Given the description of an element on the screen output the (x, y) to click on. 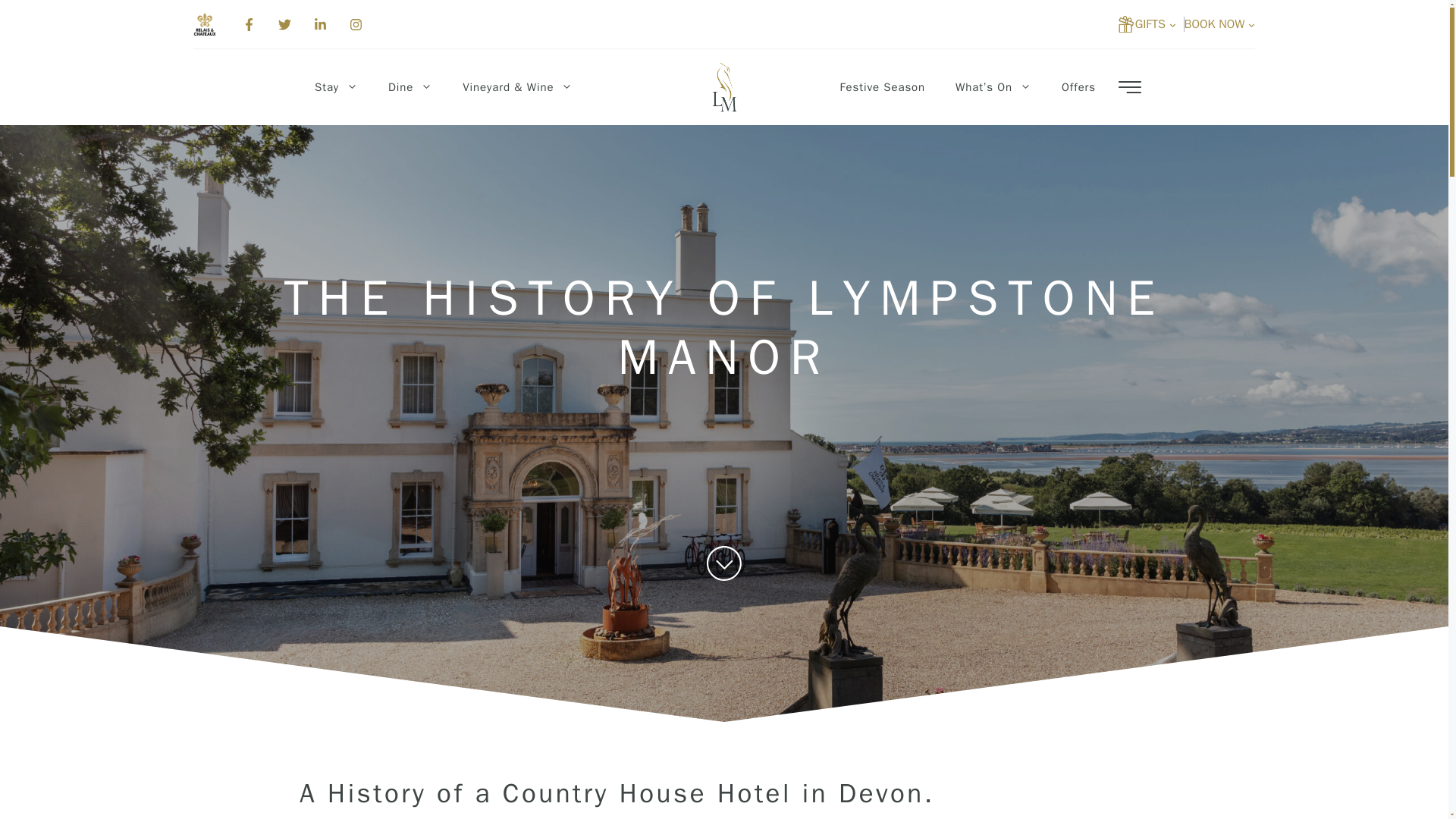
Stay (335, 86)
BOOK NOW (1220, 23)
GIFTS (1155, 23)
relais-et-chateaux-sml (204, 24)
Dine (409, 86)
